Given the description of an element on the screen output the (x, y) to click on. 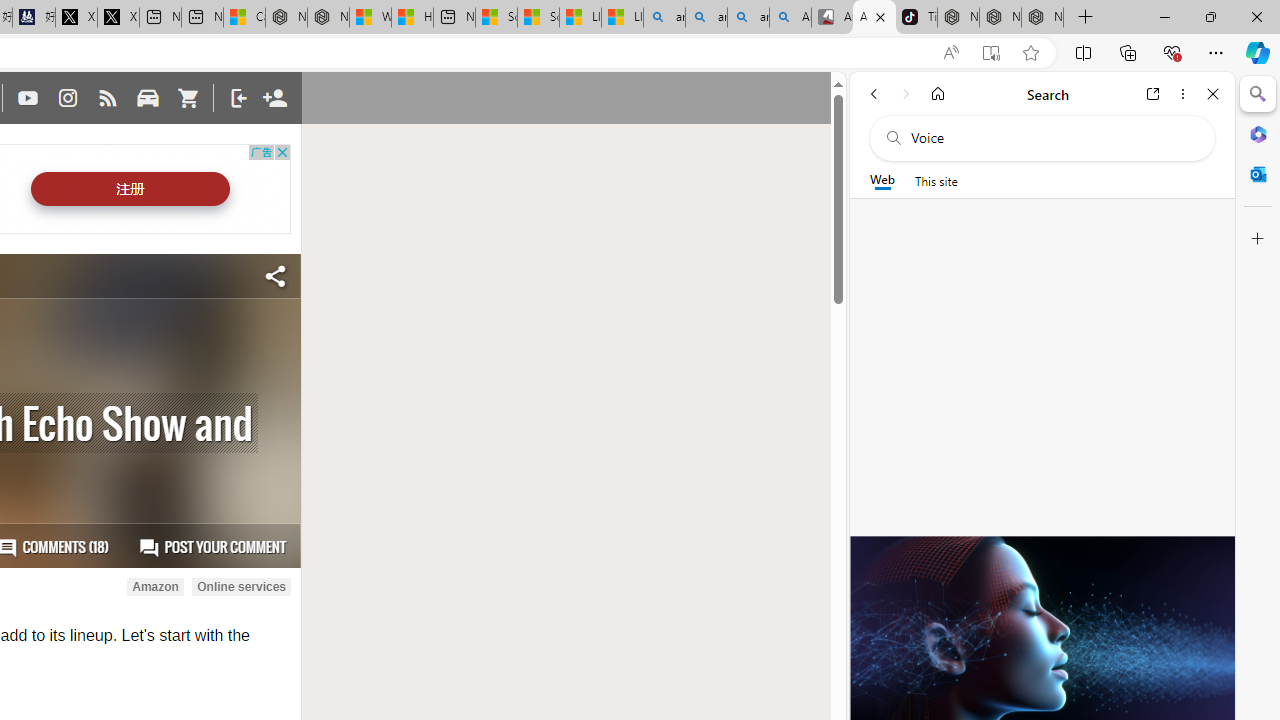
Nordace - Siena Pro 15 Essential Set (1042, 17)
TikTok (916, 17)
Home (938, 93)
Web scope (882, 180)
Search the web (1051, 137)
